Given the description of an element on the screen output the (x, y) to click on. 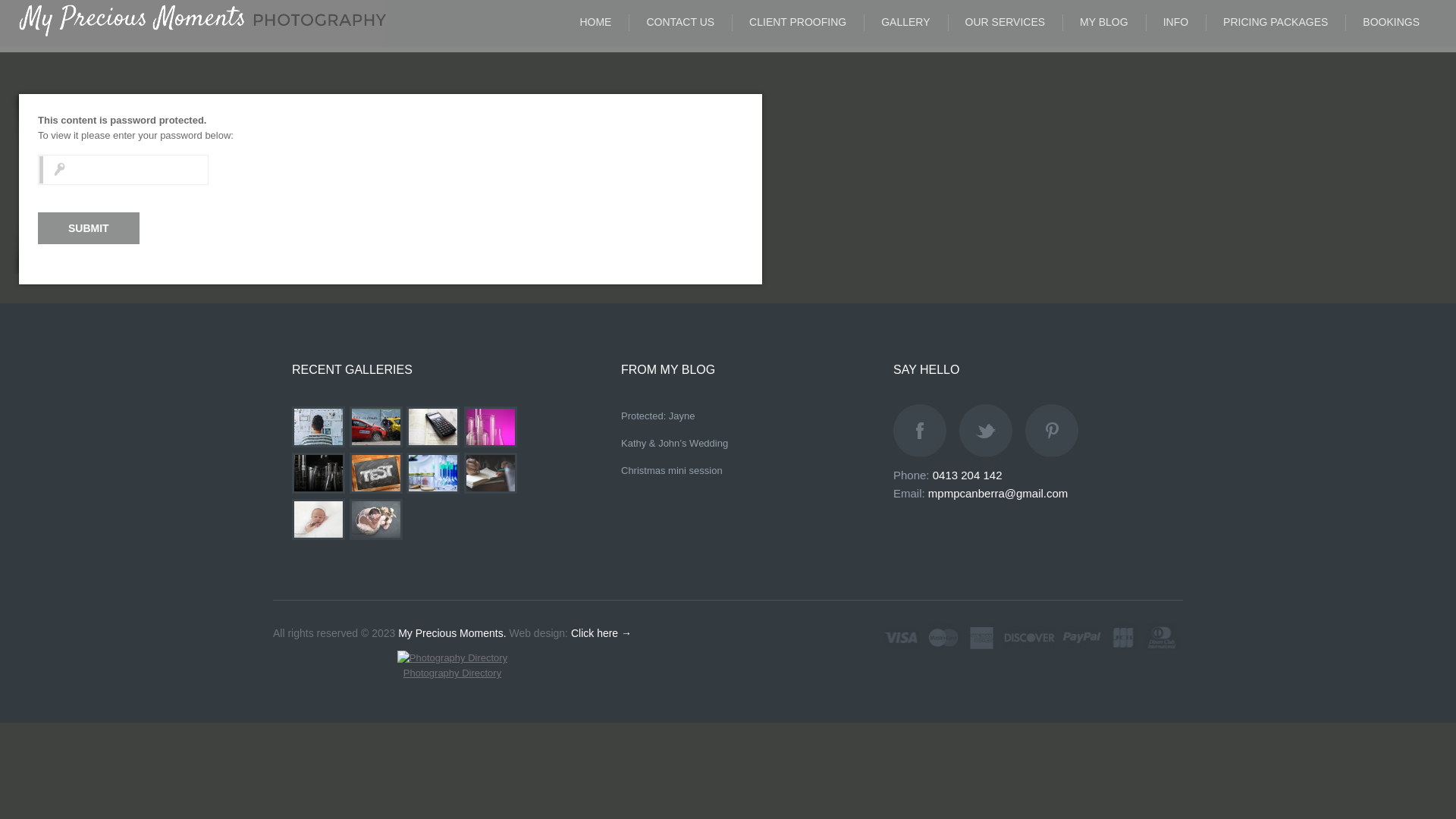
SUBMIT Element type: text (88, 228)
pexels-photo-212286 Element type: hover (318, 426)
My Precious Moments. Element type: text (451, 633)
PRICING PACKAGES Element type: text (1275, 22)
GALLERY Element type: text (905, 22)
  Element type: hover (376, 491)
  Element type: hover (318, 537)
  Element type: hover (376, 537)
  Element type: hover (376, 445)
  Element type: hover (433, 445)
mpmpcanberra@gmail.com Element type: text (997, 492)
Photography Directory Element type: text (452, 672)
pexels-photo-248152 Element type: hover (432, 472)
  Element type: hover (491, 445)
pexels-photo-239548 Element type: hover (490, 472)
  Element type: hover (433, 491)
CLIENT PROOFING Element type: text (797, 22)
OUR SERVICES Element type: text (1005, 22)
BOOKINGS Element type: text (1390, 22)
Newborn_Photography_Canberra2 Element type: hover (375, 518)
calculator-scientific Element type: hover (432, 426)
  Element type: hover (318, 491)
crash-test-collision-60-km-h-distraction-163016 Element type: hover (375, 426)
  Element type: hover (491, 491)
CONTACT US Element type: text (680, 22)
pexels-photo-1366944 Element type: hover (490, 426)
MY BLOG Element type: text (1103, 22)
HOME Element type: text (595, 22)
071217_8537 Element type: hover (318, 518)
INFO Element type: text (1175, 22)
Protected: Jayne Element type: text (658, 415)
  Element type: hover (318, 445)
pexels-photo-459793 Element type: hover (375, 472)
pexels-photo-1366942 Element type: hover (318, 472)
Christmas mini session Element type: text (671, 470)
